Given the description of an element on the screen output the (x, y) to click on. 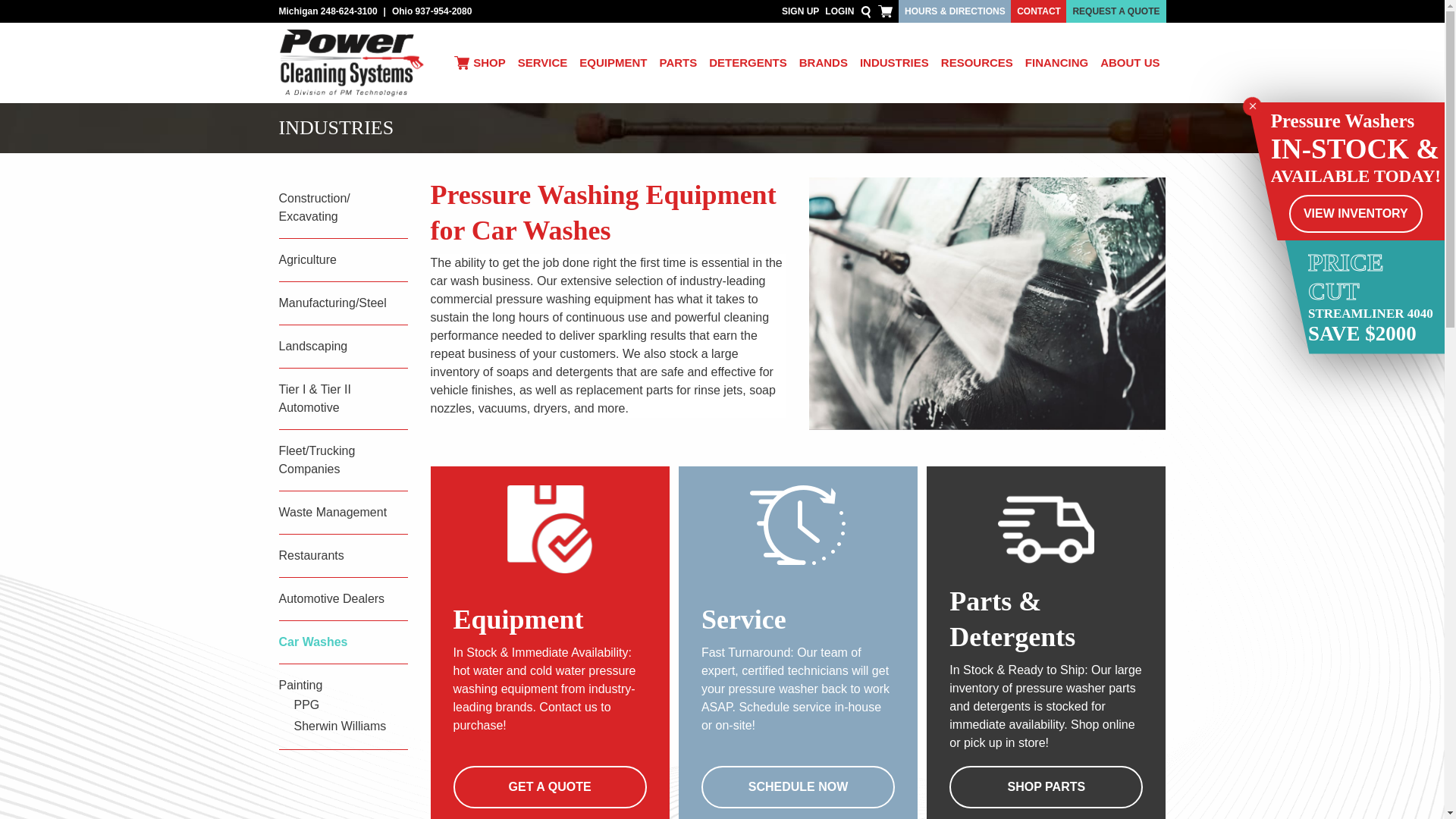
EQUIPMENT (612, 62)
LOGIN (839, 11)
CONTACT (1038, 11)
248-624-3100 (348, 10)
DETERGENTS (748, 62)
INDUSTRIES (893, 62)
SIGN UP (799, 11)
937-954-2080 (442, 10)
REQUEST A QUOTE (1115, 11)
